Given the description of an element on the screen output the (x, y) to click on. 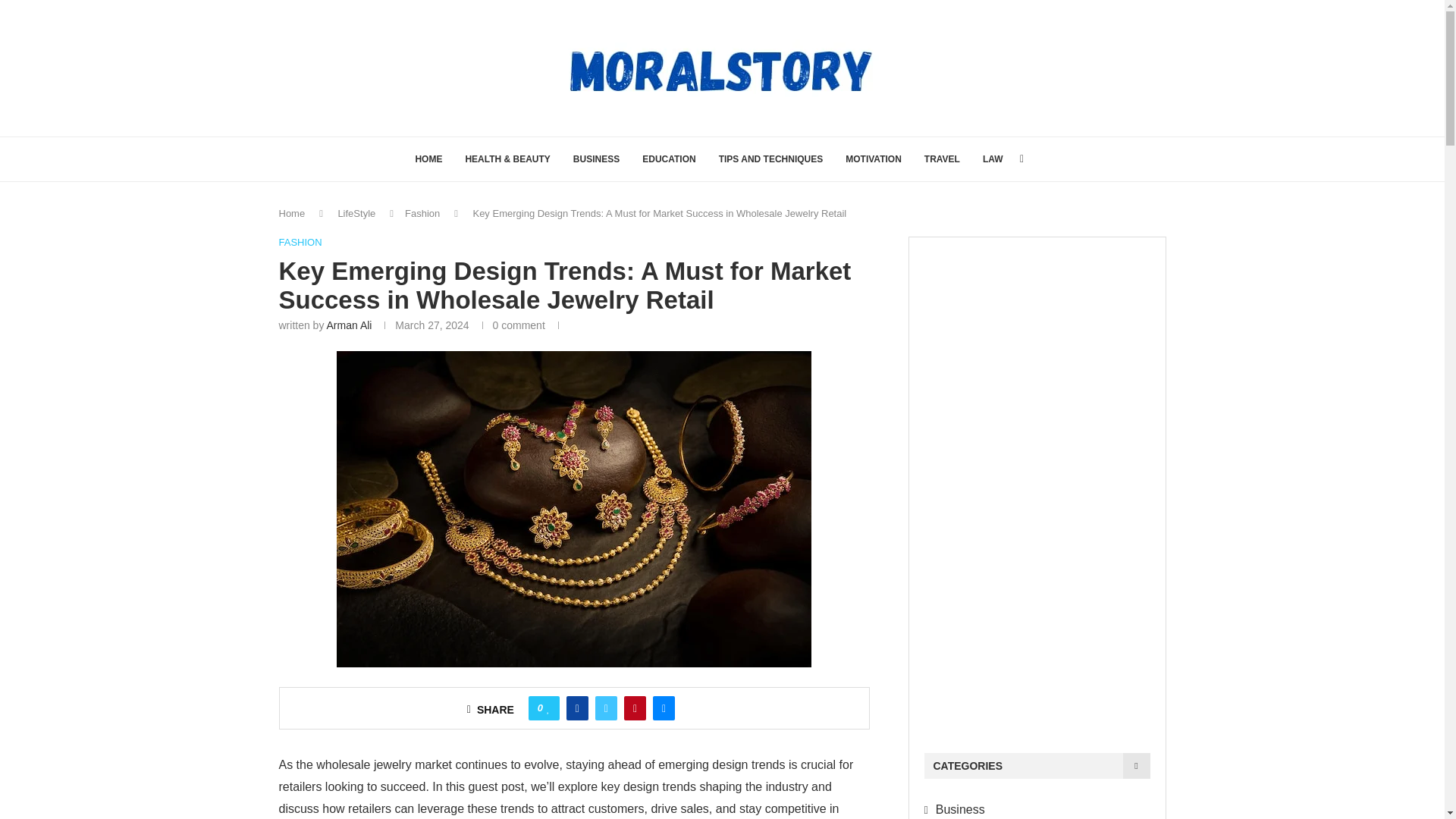
FASHION (300, 242)
EDUCATION (668, 158)
BUSINESS (596, 158)
TIPS AND TECHNIQUES (771, 158)
Home (292, 213)
MOTIVATION (873, 158)
LifeStyle (356, 213)
Fashion (421, 213)
Arman Ali (349, 325)
